Given the description of an element on the screen output the (x, y) to click on. 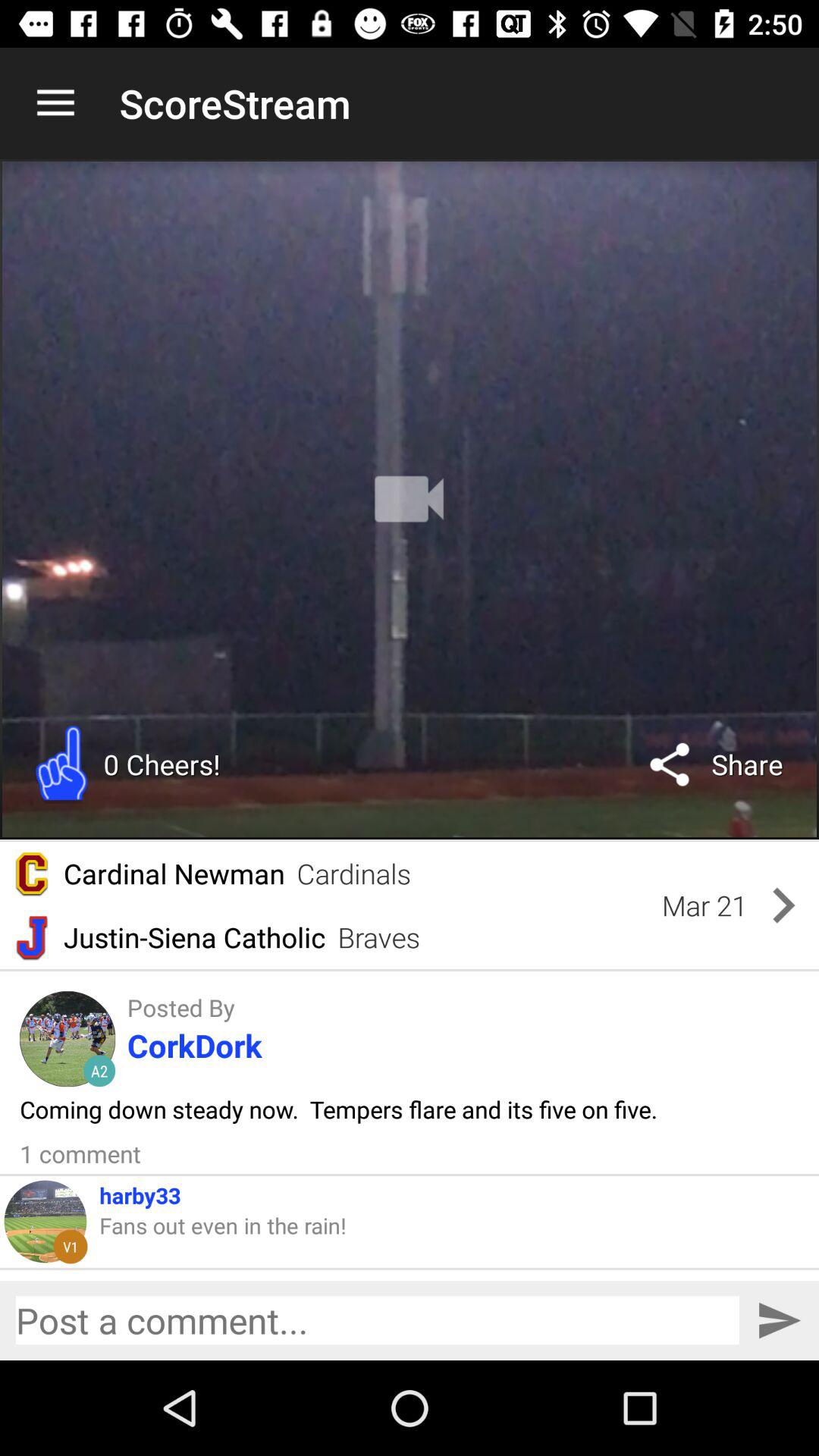
submit comment (779, 1320)
